Given the description of an element on the screen output the (x, y) to click on. 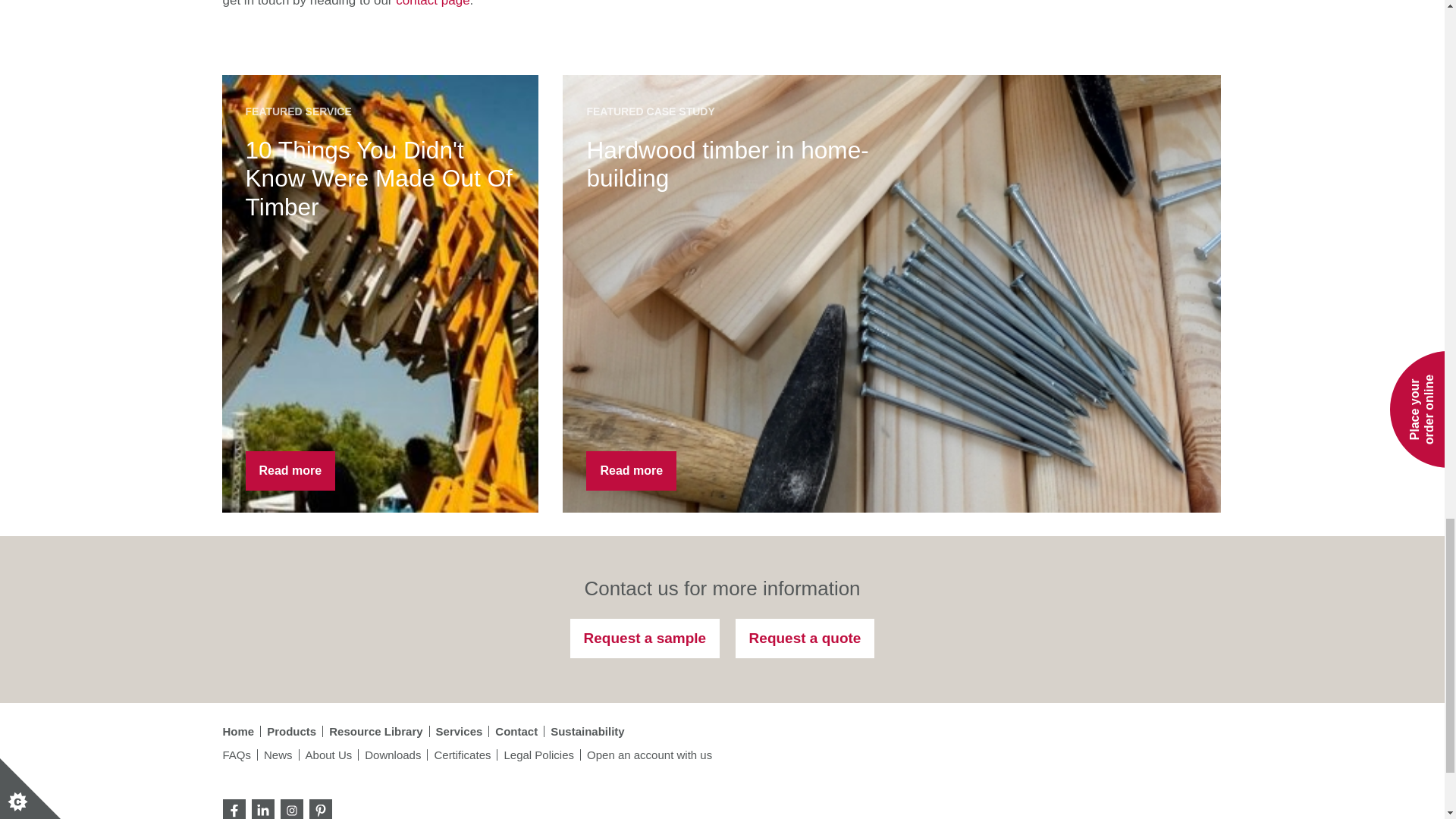
Read more (631, 470)
Pinterest (319, 809)
Request a sample (645, 638)
LinkedIn (263, 809)
Instagram (291, 809)
Facebook (234, 809)
Read more (291, 470)
Request a quote (805, 638)
